Given the description of an element on the screen output the (x, y) to click on. 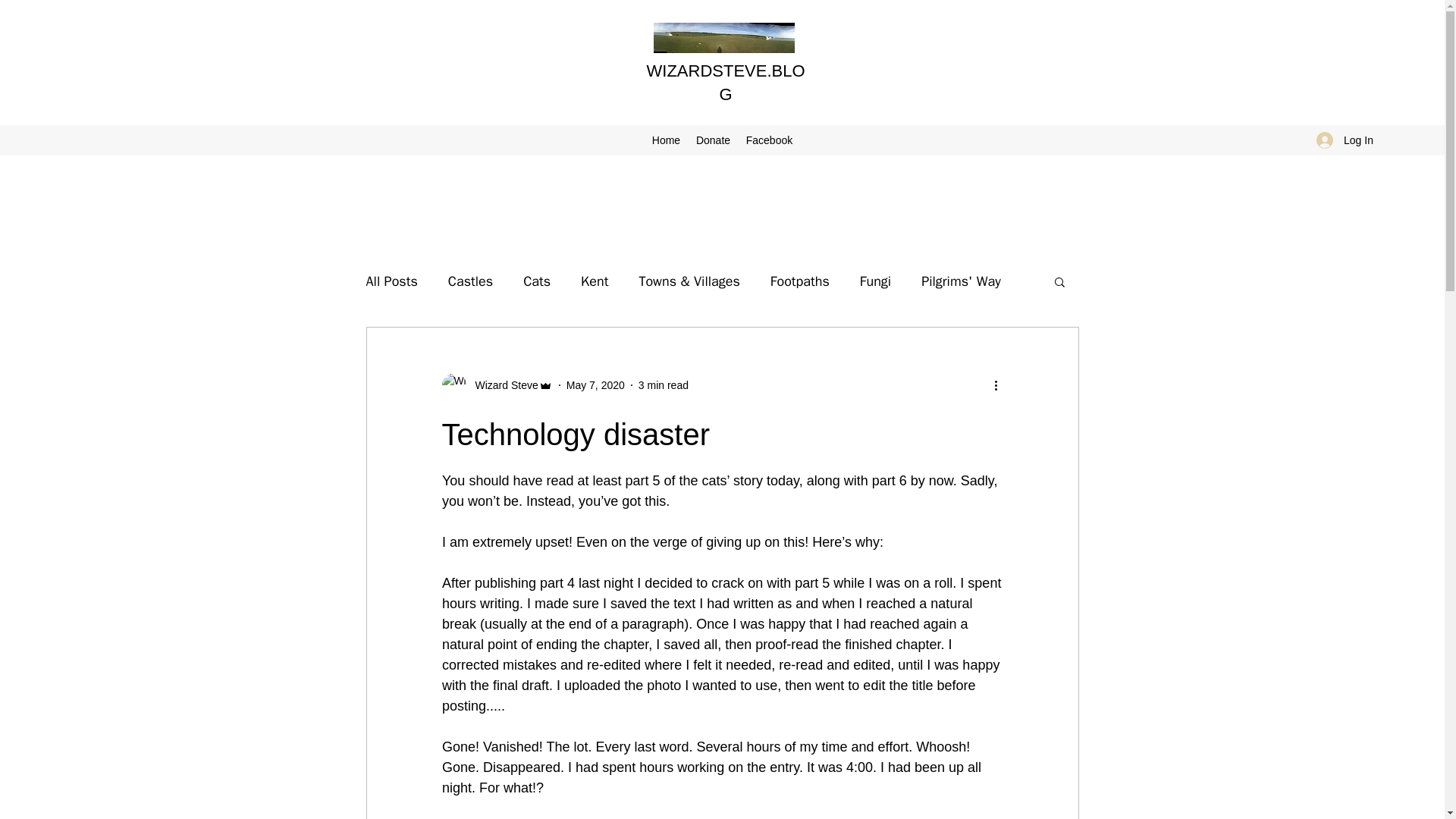
Pilgrims' Way (961, 280)
Donate (712, 139)
Home (665, 139)
Fungi (875, 280)
Footpaths (799, 280)
Cats (536, 280)
Wizard Steve (501, 385)
Kent (594, 280)
Facebook (768, 139)
Log In (1345, 139)
WIZARDSTEVE.BLOG (725, 82)
All Posts (390, 280)
Wizard Steve (496, 385)
Castles (470, 280)
3 min read (663, 385)
